Given the description of an element on the screen output the (x, y) to click on. 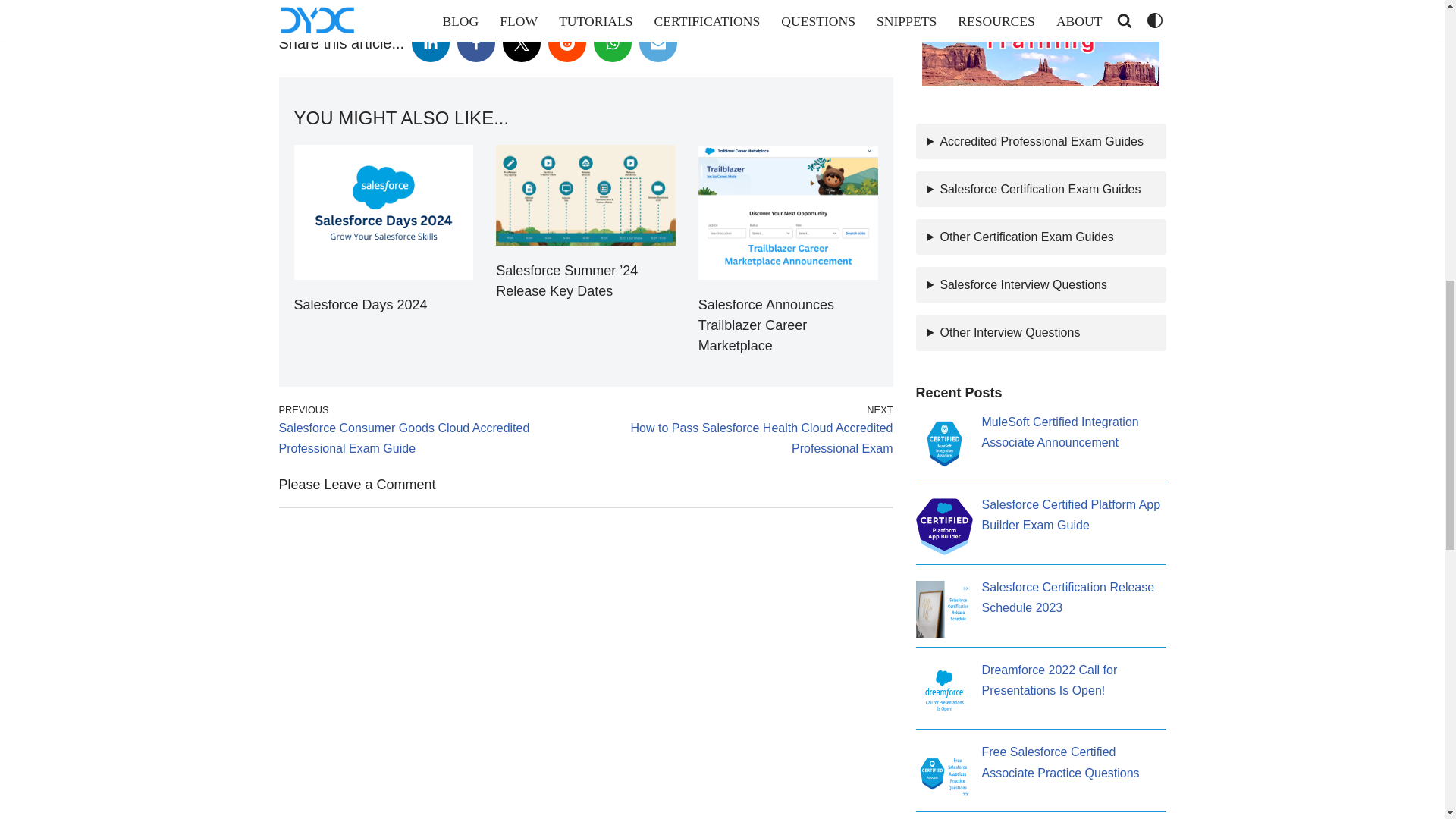
Facebook (476, 43)
Email (658, 43)
Business Analyst (495, 0)
Admin (337, 0)
Twitter (521, 43)
Developer (675, 0)
Consultant (594, 0)
Architect (401, 0)
